Given the description of an element on the screen output the (x, y) to click on. 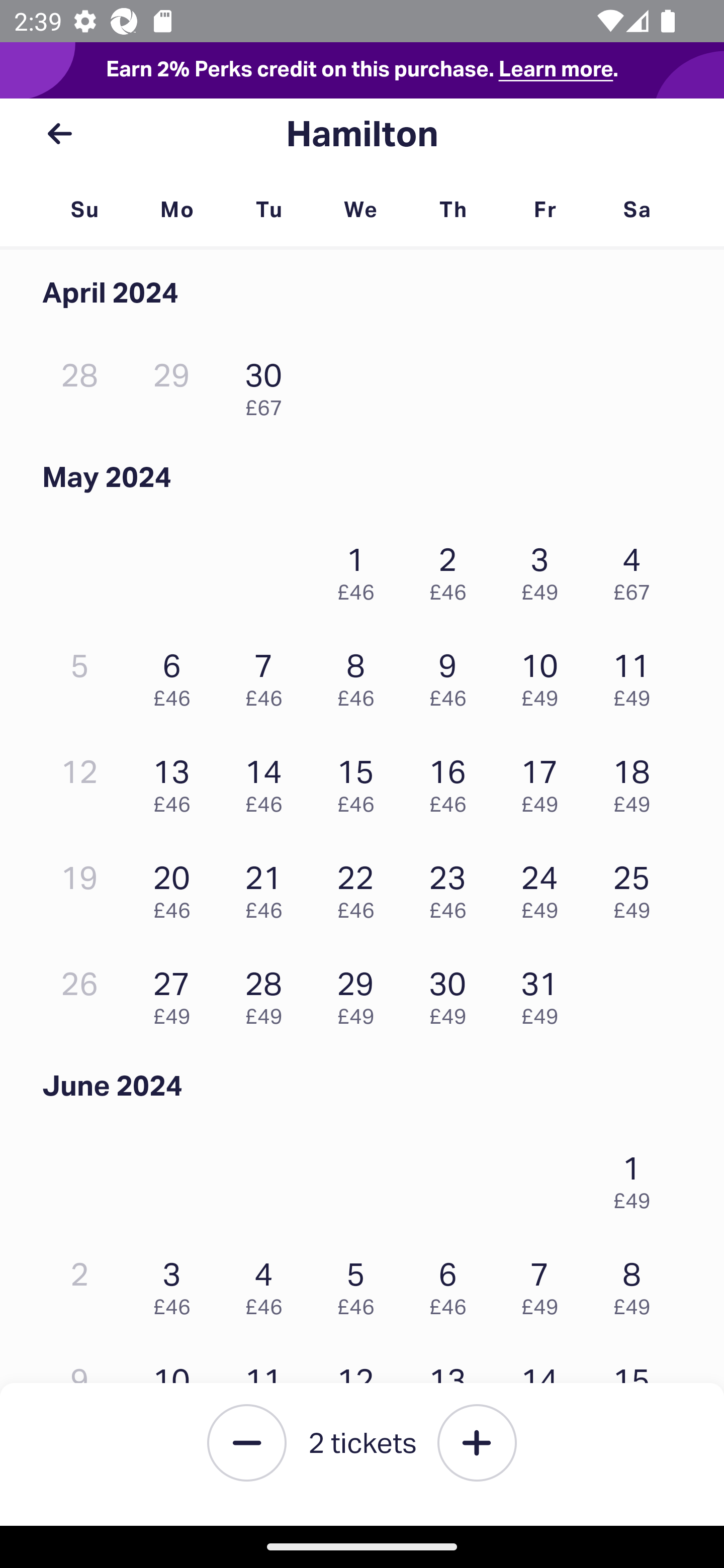
Earn 2% Perks credit on this purchase. Learn more. (362, 70)
back button (59, 133)
30 £67 (268, 384)
1 £46 (360, 569)
2 £46 (452, 569)
3 £49 (544, 569)
4 £67 (636, 569)
6 £46 (176, 674)
7 £46 (268, 674)
8 £46 (360, 674)
9 £46 (452, 674)
10 £49 (544, 674)
11 £49 (636, 674)
13 £46 (176, 781)
14 £46 (268, 781)
15 £46 (360, 781)
16 £46 (452, 781)
17 £49 (544, 781)
18 £49 (636, 781)
20 £46 (176, 886)
21 £46 (268, 886)
22 £46 (360, 886)
23 £46 (452, 886)
24 £49 (544, 886)
25 £49 (636, 886)
27 £49 (176, 992)
28 £49 (268, 992)
29 £49 (360, 992)
30 £49 (452, 992)
31 £49 (544, 992)
1 £49 (636, 1177)
3 £46 (176, 1283)
4 £46 (268, 1283)
5 £46 (360, 1283)
6 £46 (452, 1283)
7 £49 (544, 1283)
8 £49 (636, 1283)
